Given the description of an element on the screen output the (x, y) to click on. 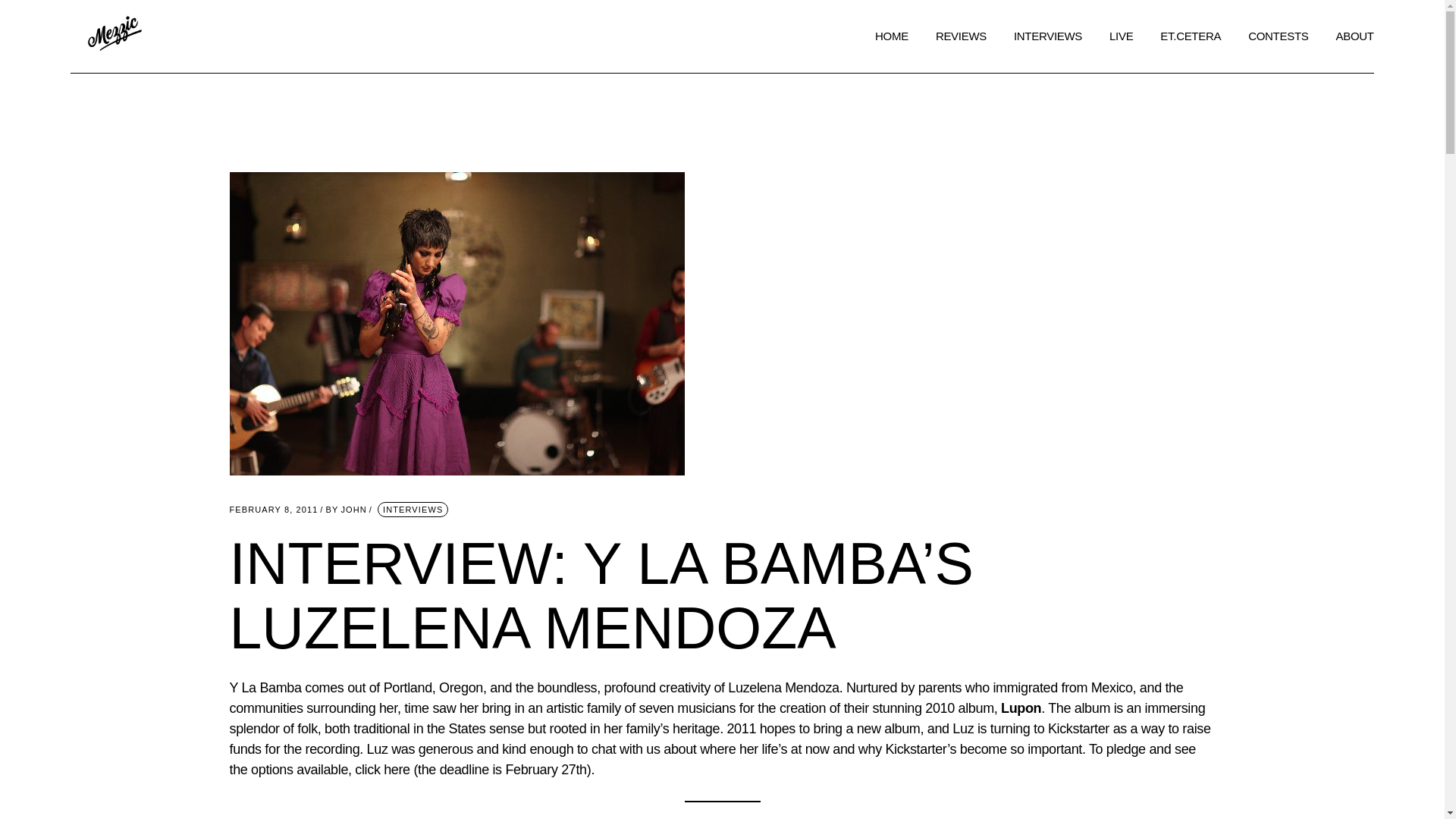
a way to raise funds for the recording (346, 510)
click here (718, 738)
INTERVIEWS (382, 769)
FEBRUARY 8, 2011 (412, 509)
INTERVIEWS (272, 510)
